Given the description of an element on the screen output the (x, y) to click on. 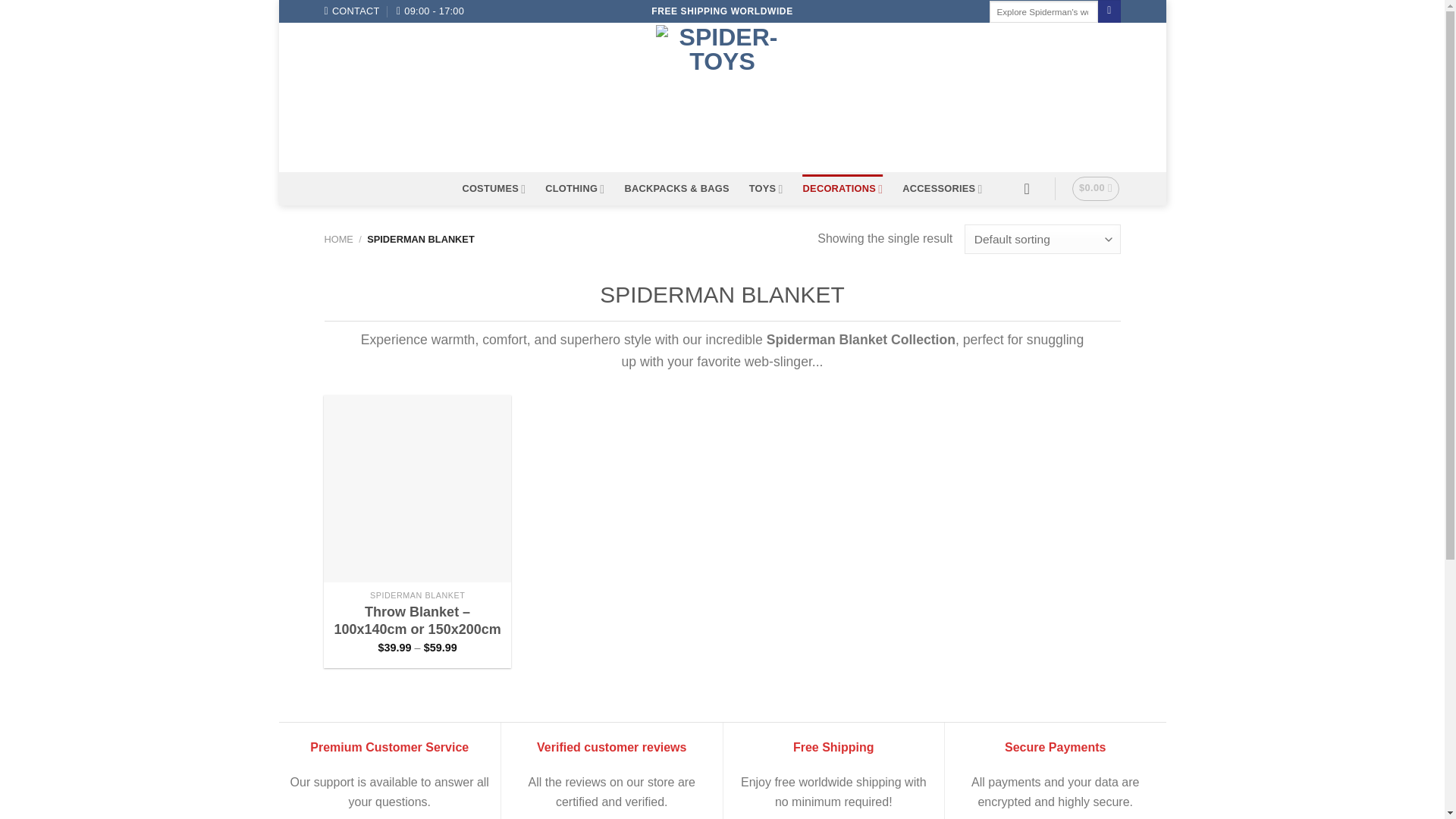
DECORATIONS (843, 188)
09:00 - 17:00 (430, 11)
Spider-toys - Welcome to our Spiderman Shop! (721, 96)
TOYS (766, 188)
CLOTHING (574, 188)
CONTACT (352, 11)
COSTUMES (493, 188)
09:00 - 17:00  (430, 11)
